Given the description of an element on the screen output the (x, y) to click on. 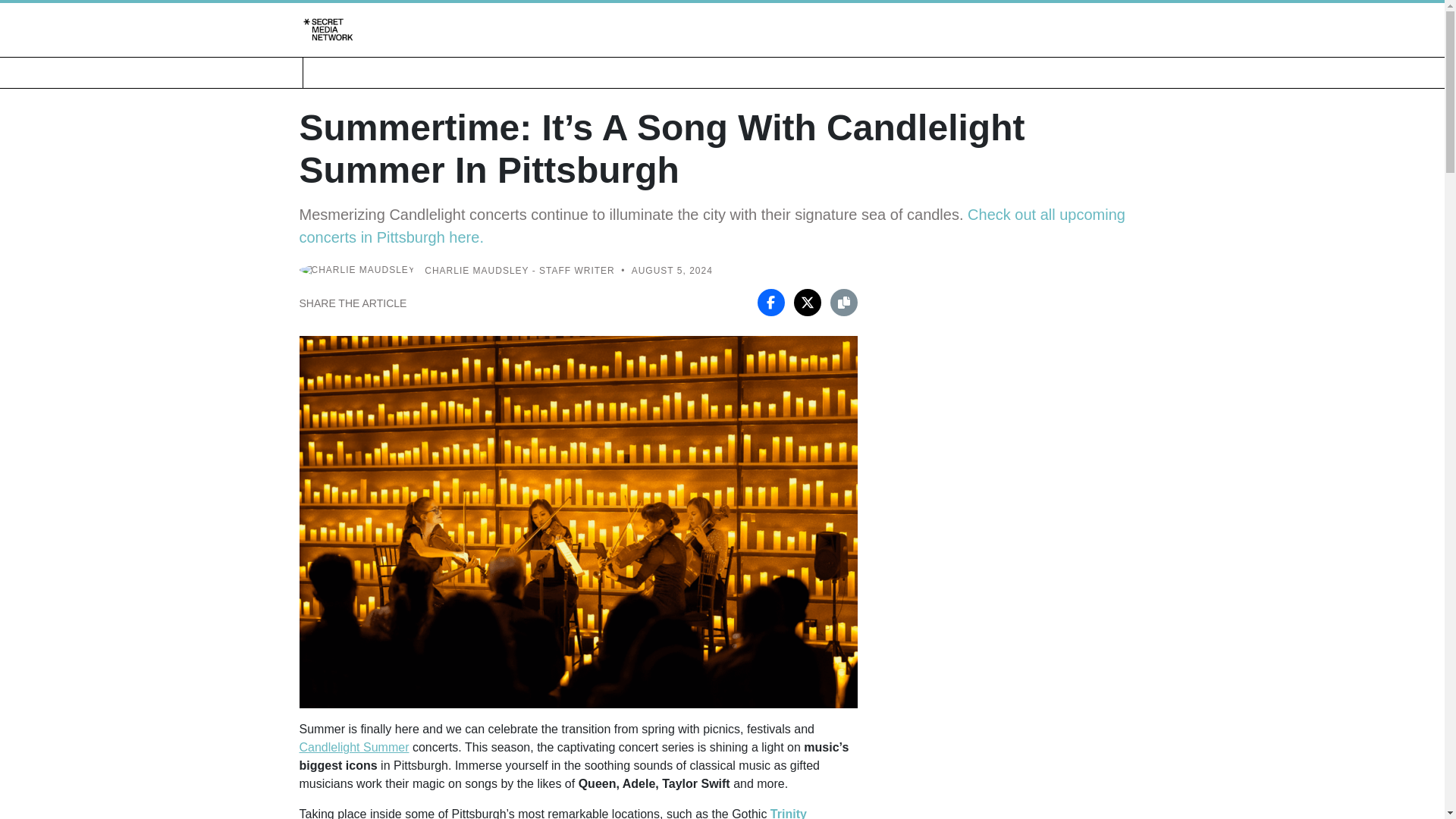
Candlelight Summer (353, 747)
Trinity Episcopal Cathedral (552, 813)
Check out all upcoming concerts in Pittsburgh here. (711, 225)
